Given the description of an element on the screen output the (x, y) to click on. 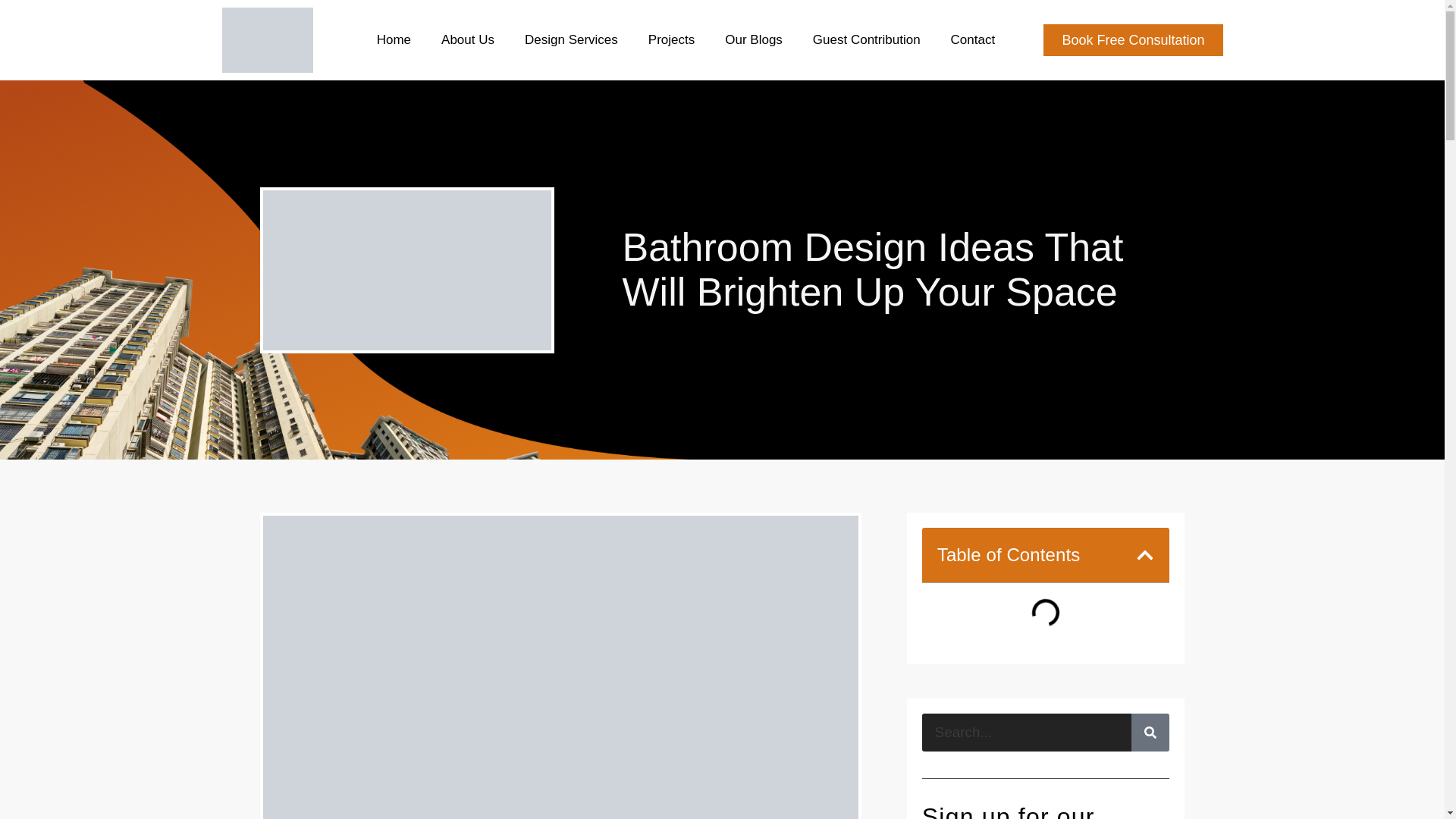
Home (393, 39)
Projects (671, 39)
Our Blogs (753, 39)
Guest Contribution (866, 39)
Book Free Consultation (1133, 40)
Design Services (570, 39)
Contact (973, 39)
About Us (467, 39)
